Given the description of an element on the screen output the (x, y) to click on. 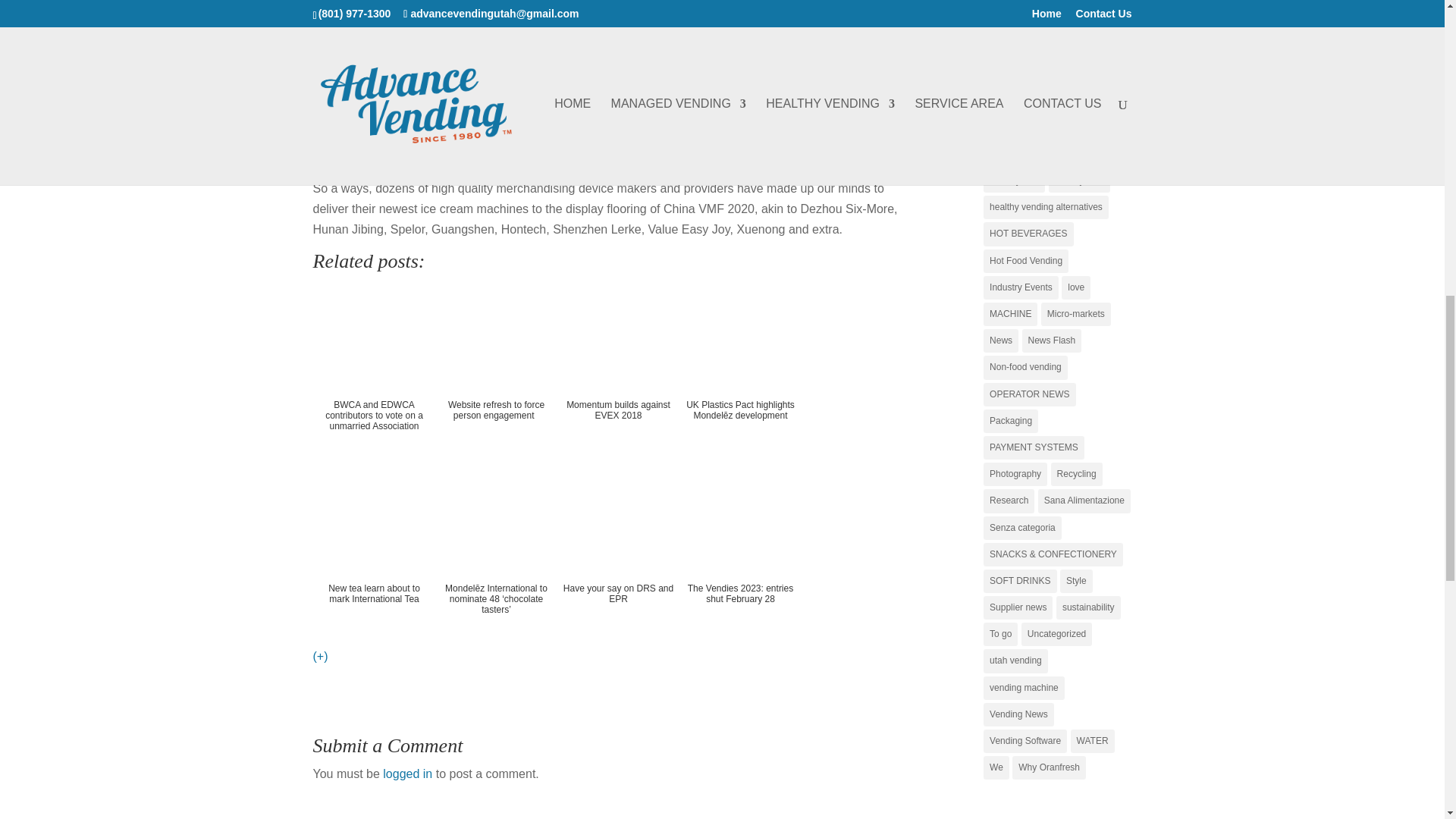
From (326, 113)
logged in (407, 773)
what (325, 28)
